Given the description of an element on the screen output the (x, y) to click on. 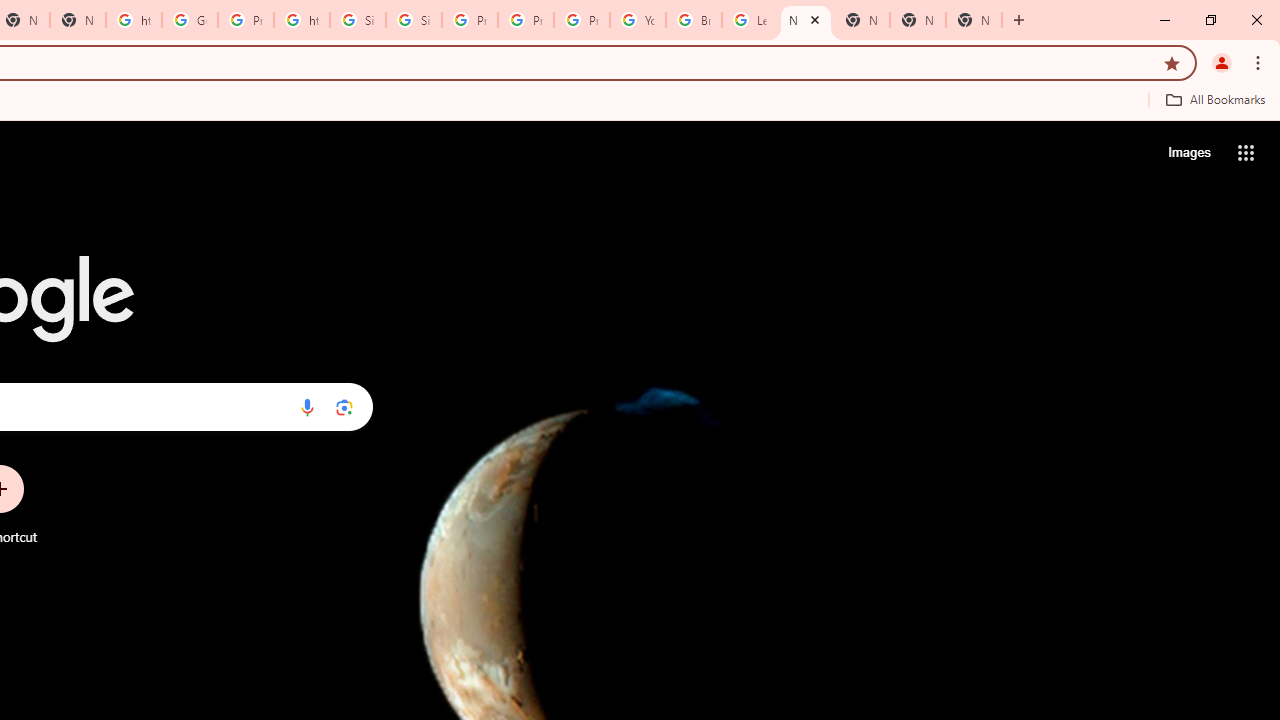
Privacy Help Center - Policies Help (525, 20)
New Tab (973, 20)
https://scholar.google.com/ (134, 20)
New Tab (917, 20)
https://scholar.google.com/ (301, 20)
